Given the description of an element on the screen output the (x, y) to click on. 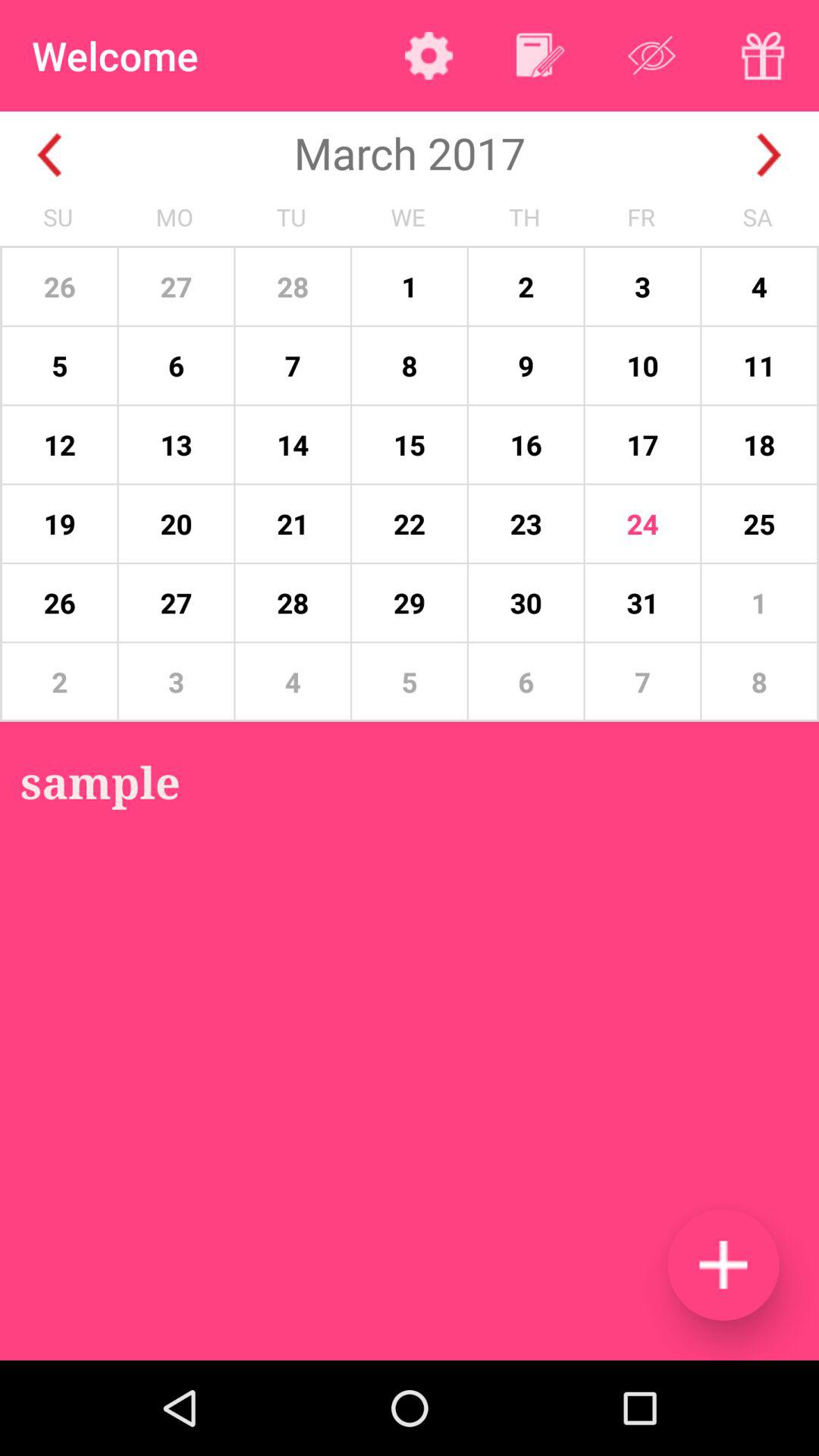
go to previous month (49, 155)
